Given the description of an element on the screen output the (x, y) to click on. 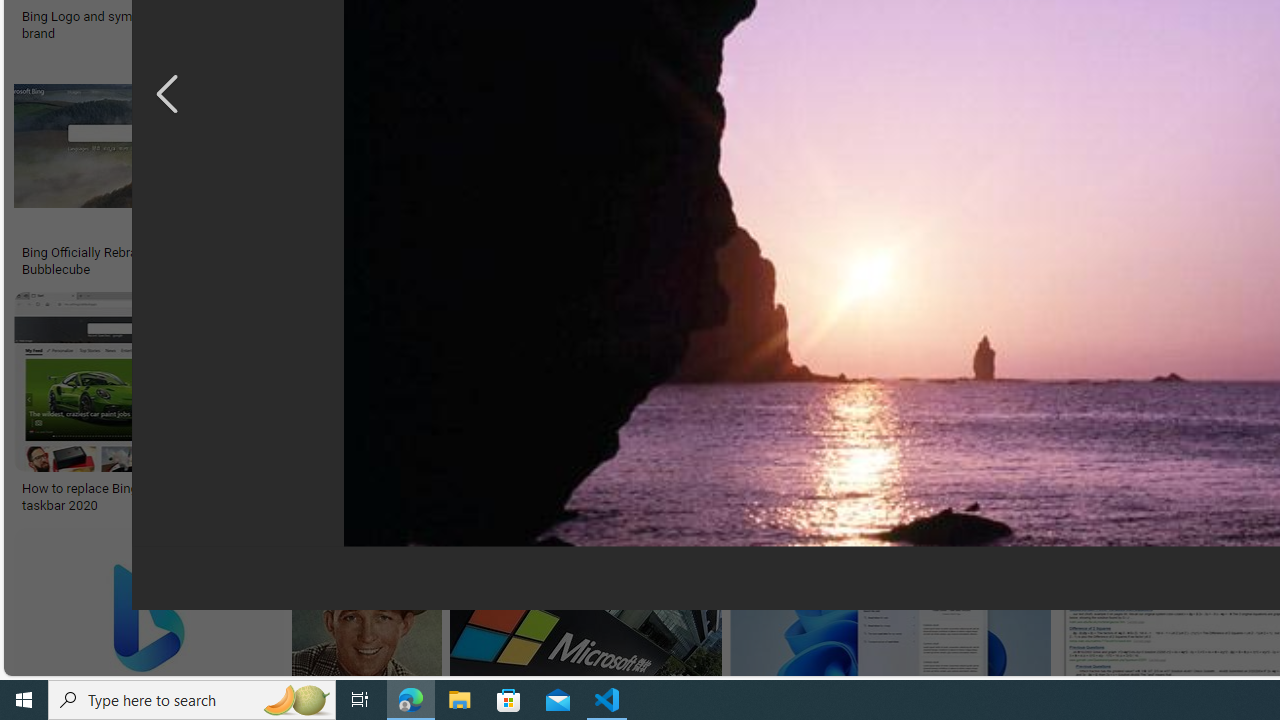
Bing - SEOLend (386, 253)
Bing - SEOLendSave (493, 169)
How to replace Bing in Windows 10 search on the taskbar 2020 (164, 497)
Bing Logo and symbol, meaning, history, PNG, brand (170, 24)
How to replace Bing in Windows 10 search on the taskbar 2020 (164, 497)
Bing Logo and symbol, meaning, history, PNG, brand (170, 24)
Bing - SEOLend (489, 253)
